Given the description of an element on the screen output the (x, y) to click on. 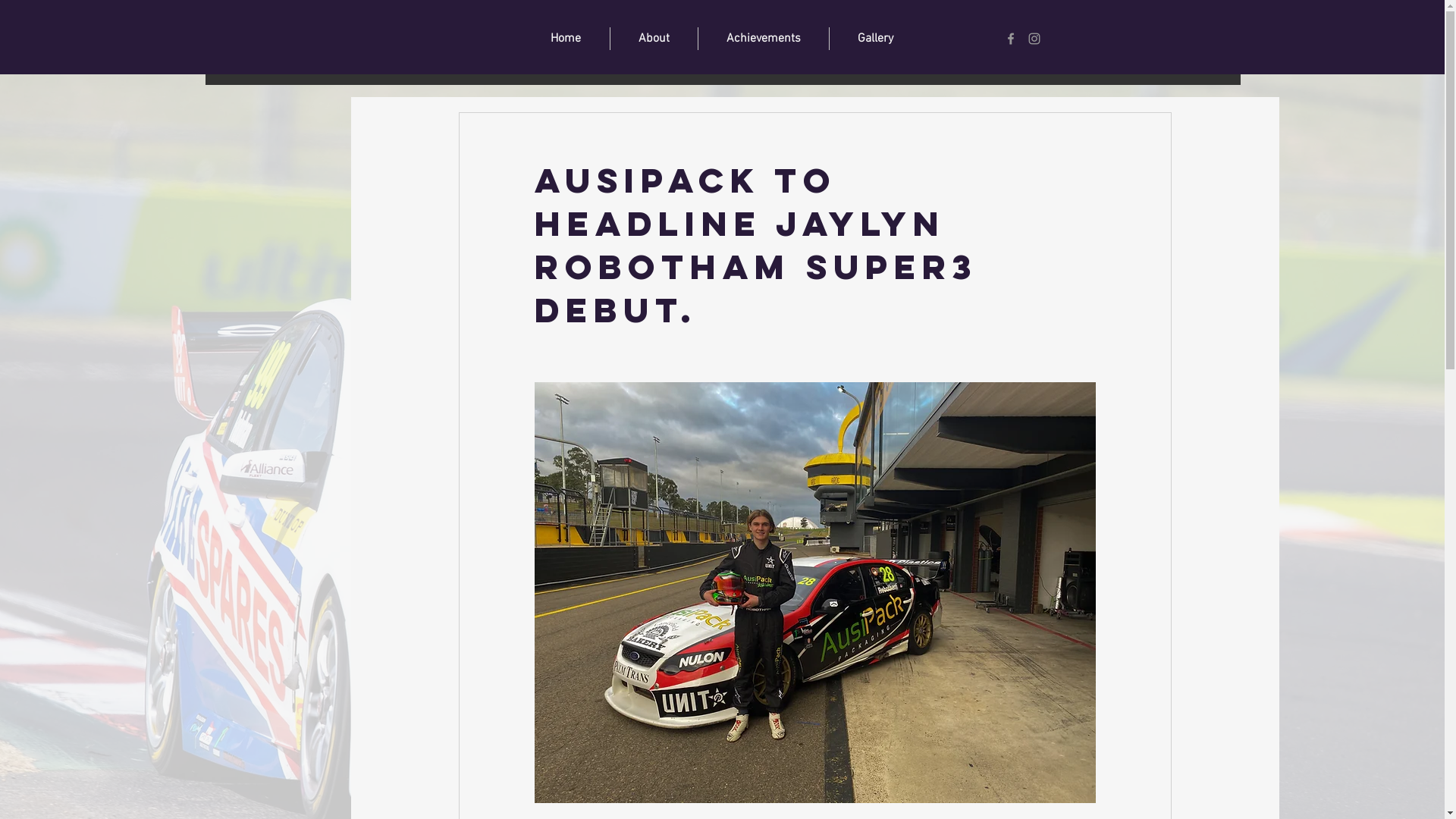
Gallery Element type: text (875, 38)
Achievements Element type: text (762, 38)
Home Element type: text (564, 38)
About Element type: text (652, 38)
